Given the description of an element on the screen output the (x, y) to click on. 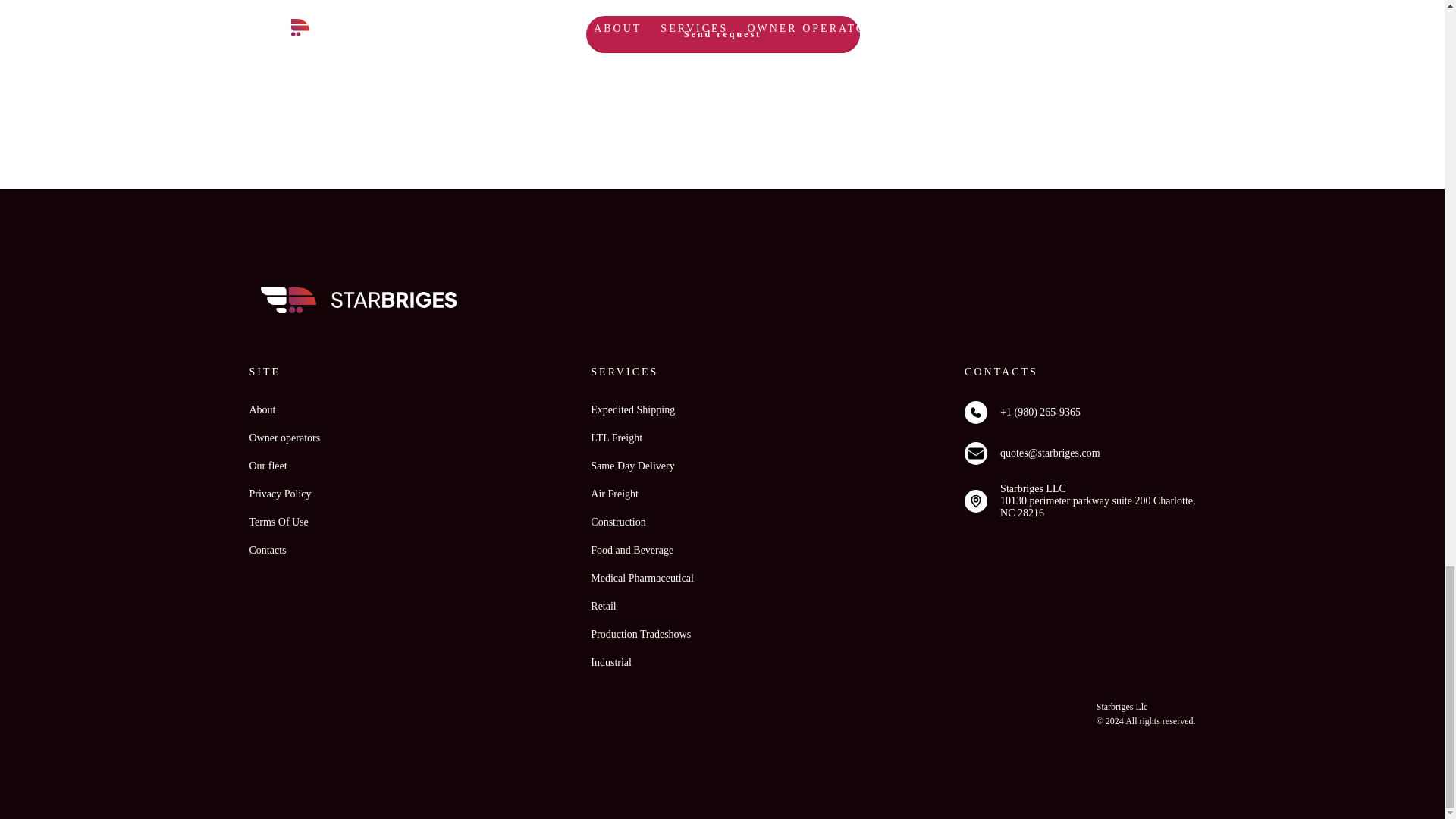
Send request (722, 33)
Contacts (266, 550)
Production Tradeshows (640, 634)
Terms Of Use (277, 522)
Retail (603, 606)
Send request (726, 30)
Medical Pharmaceutical (642, 578)
Privacy Policy (279, 494)
Our fleet (267, 466)
LTL Freight (616, 438)
Construction (618, 522)
Expedited Shipping (633, 410)
Food and Beverage (631, 550)
About (261, 410)
Owner operators (284, 438)
